Given the description of an element on the screen output the (x, y) to click on. 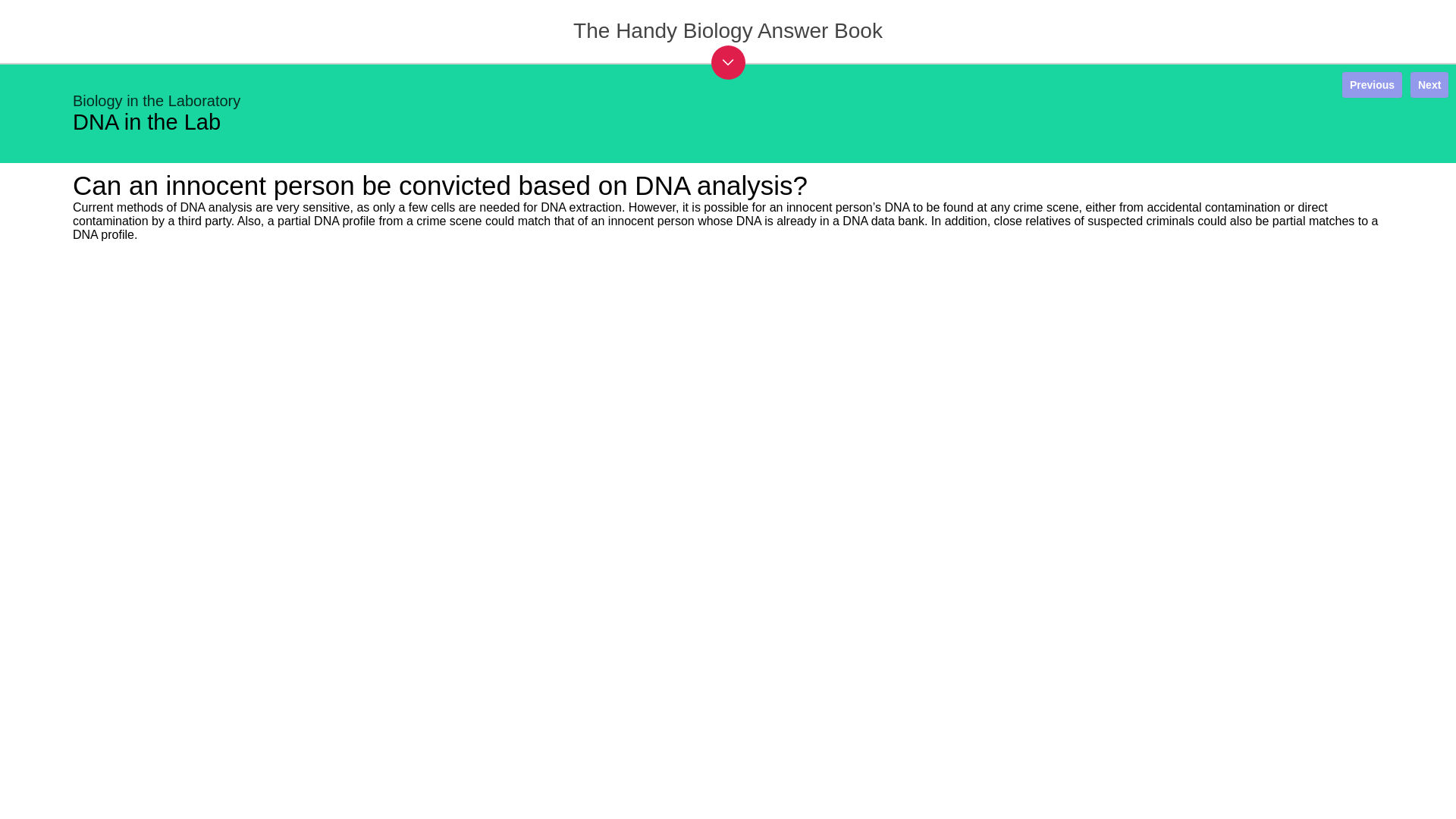
Next (1429, 84)
Previous (1372, 84)
